Given the description of an element on the screen output the (x, y) to click on. 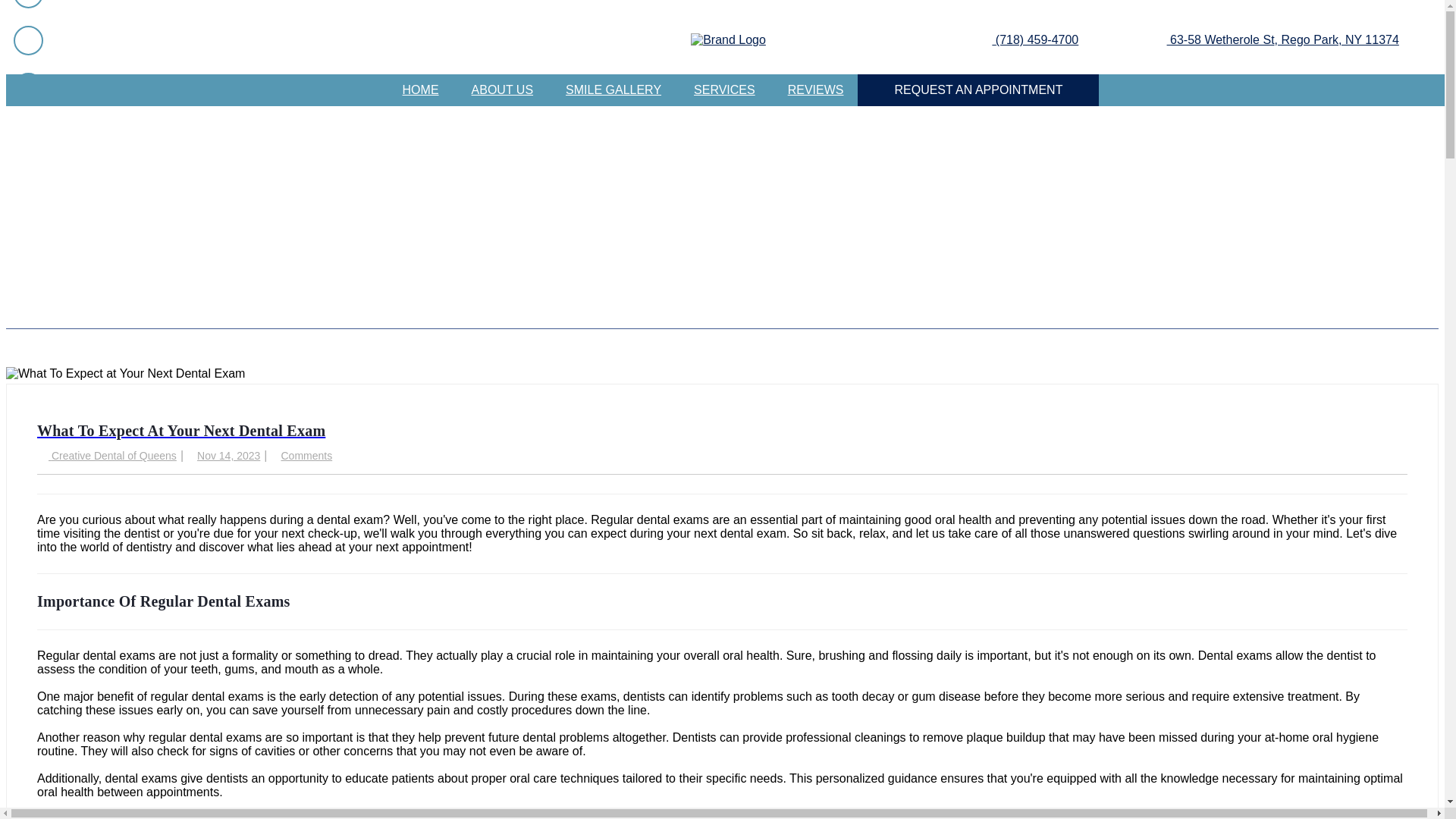
What To Expect at Your Next Dental Exam (124, 373)
SERVICES (724, 90)
SMILE GALLERY (613, 90)
REVIEWS (815, 90)
Brand Logo (727, 39)
ABOUT US (501, 90)
REQUEST AN APPOINTMENT (978, 90)
REQUEST AN APPOINTMENT (978, 90)
HOME (420, 90)
 63-58 Wetherole St, Rego Park, NY 11374 (1282, 39)
